Given the description of an element on the screen output the (x, y) to click on. 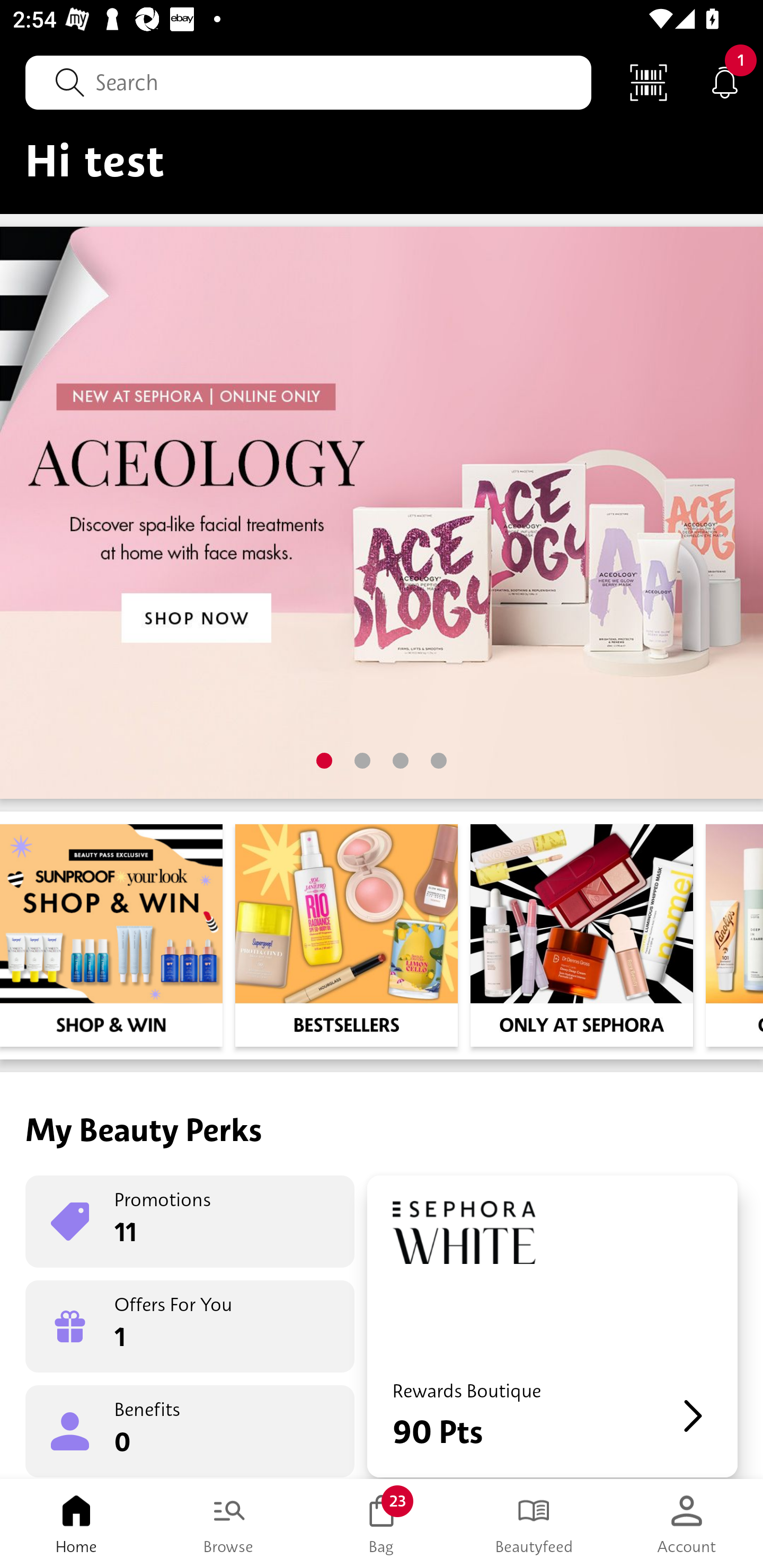
Scan Code (648, 81)
Notifications (724, 81)
Search (308, 81)
Promotions 11 (189, 1221)
Rewards Boutique 90 Pts (552, 1326)
Offers For You 1 (189, 1326)
Benefits 0 (189, 1430)
Browse (228, 1523)
Bag 23 Bag (381, 1523)
Beautyfeed (533, 1523)
Account (686, 1523)
